Given the description of an element on the screen output the (x, y) to click on. 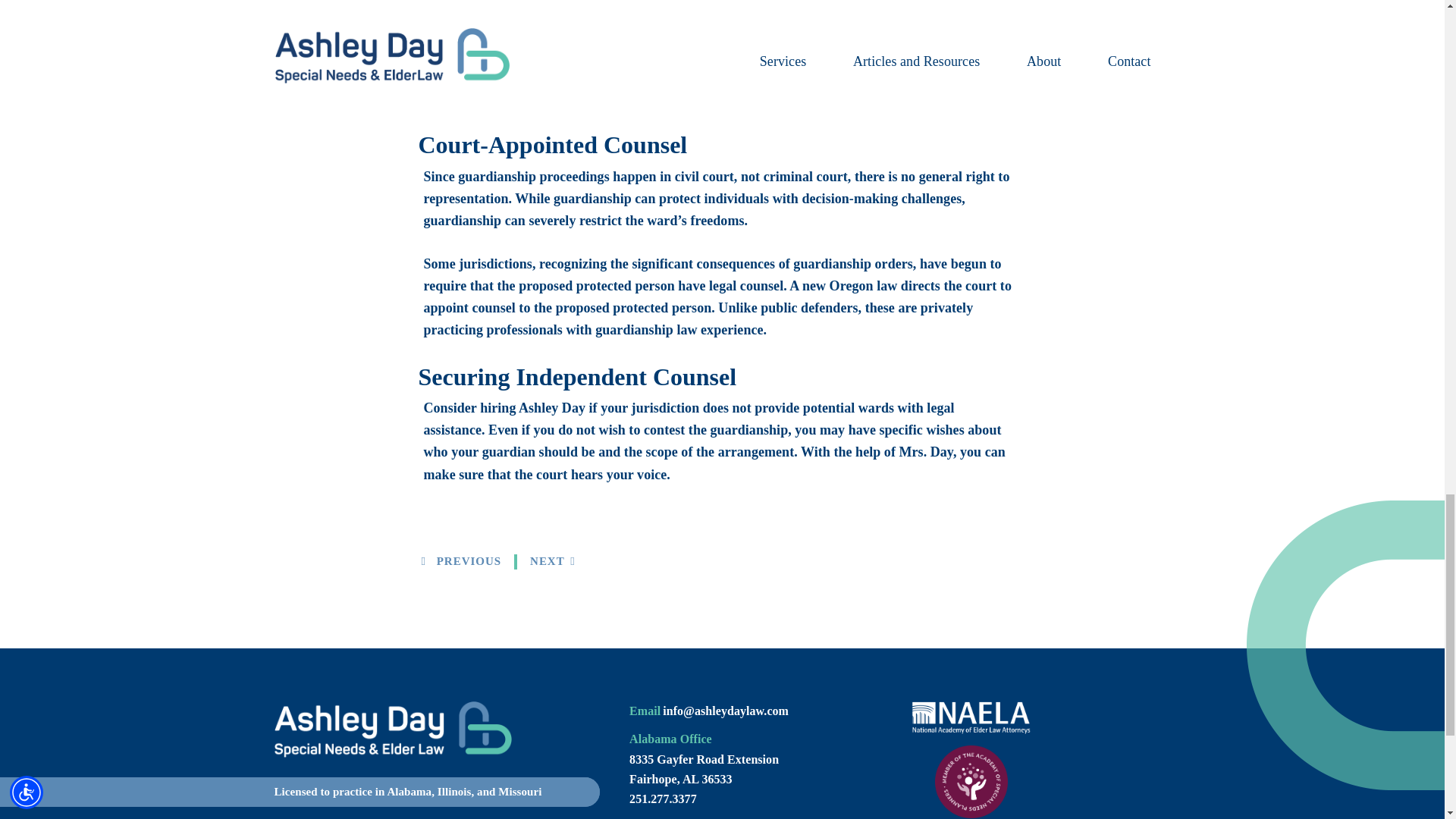
PREVIOUS (462, 561)
251.277.3377 (662, 798)
NEXT (552, 561)
